Given the description of an element on the screen output the (x, y) to click on. 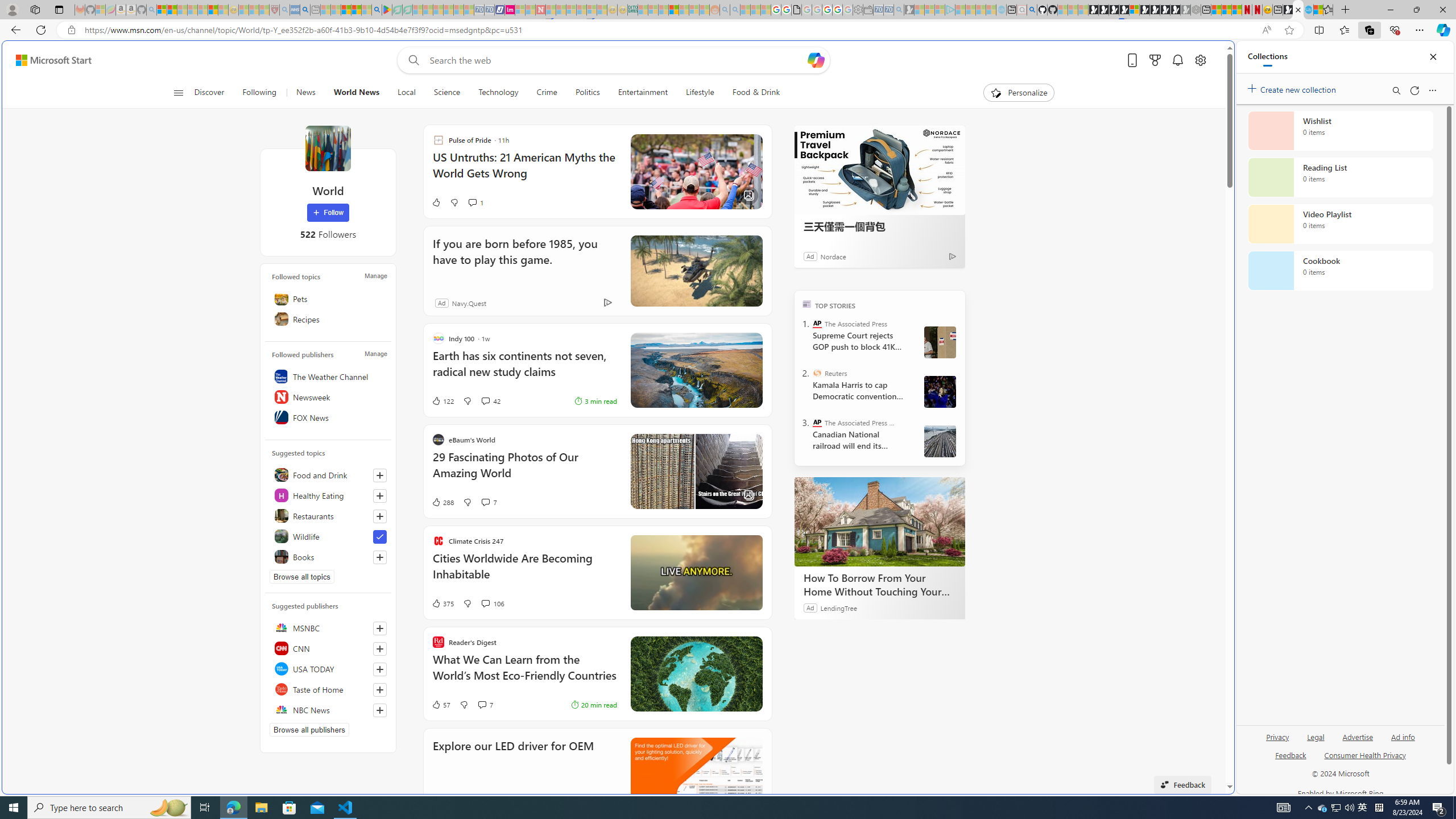
Follow this source (379, 710)
TOP (806, 302)
Reading List collection, 0 items (1339, 177)
More options menu (1432, 90)
